Given the description of an element on the screen output the (x, y) to click on. 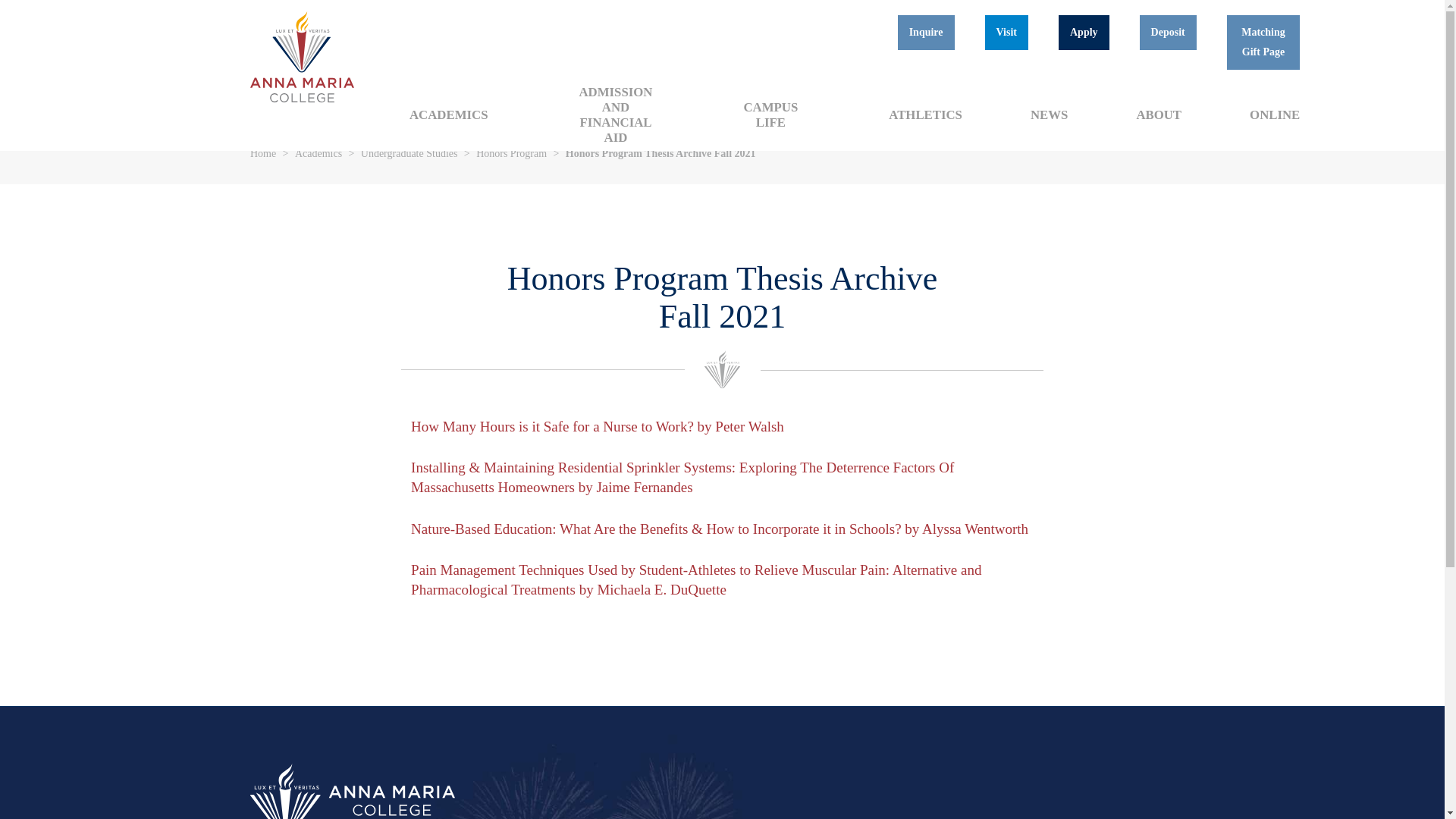
ADMISSION AND FINANCIAL AID (616, 117)
CAMPUS LIFE (770, 117)
ACADEMICS (448, 117)
